Given the description of an element on the screen output the (x, y) to click on. 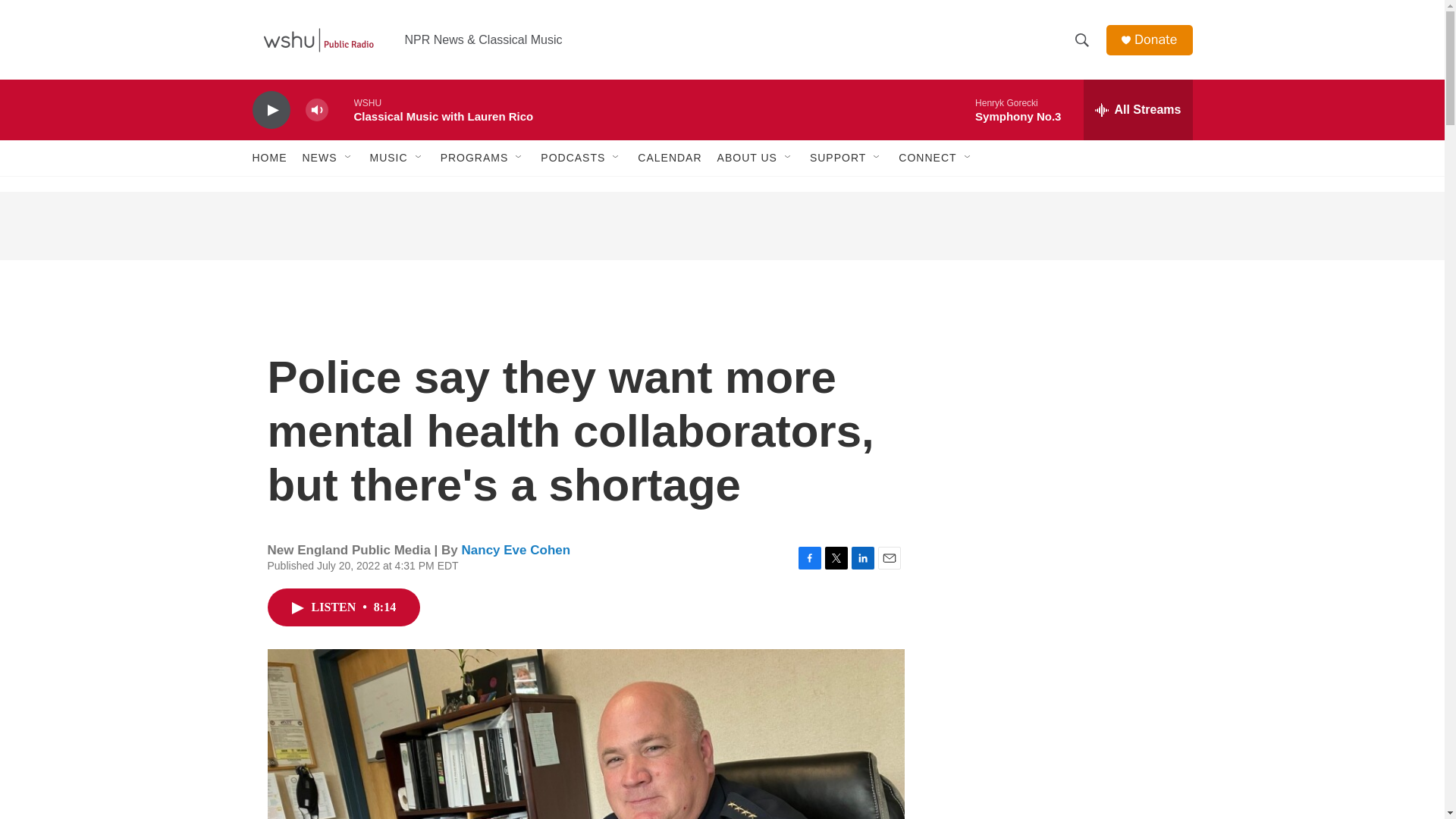
3rd party ad content (1062, 619)
3rd party ad content (721, 225)
3rd party ad content (1062, 782)
3rd party ad content (1062, 400)
